Given the description of an element on the screen output the (x, y) to click on. 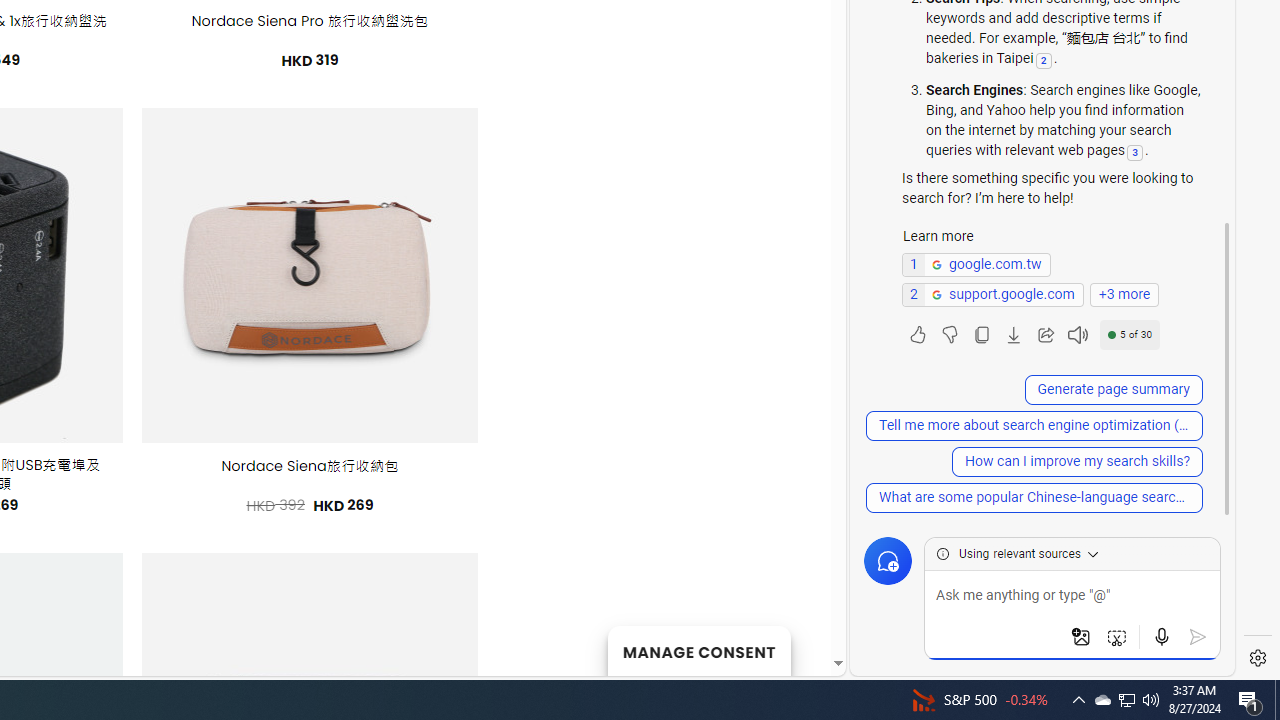
MANAGE CONSENT (698, 650)
